Given the description of an element on the screen output the (x, y) to click on. 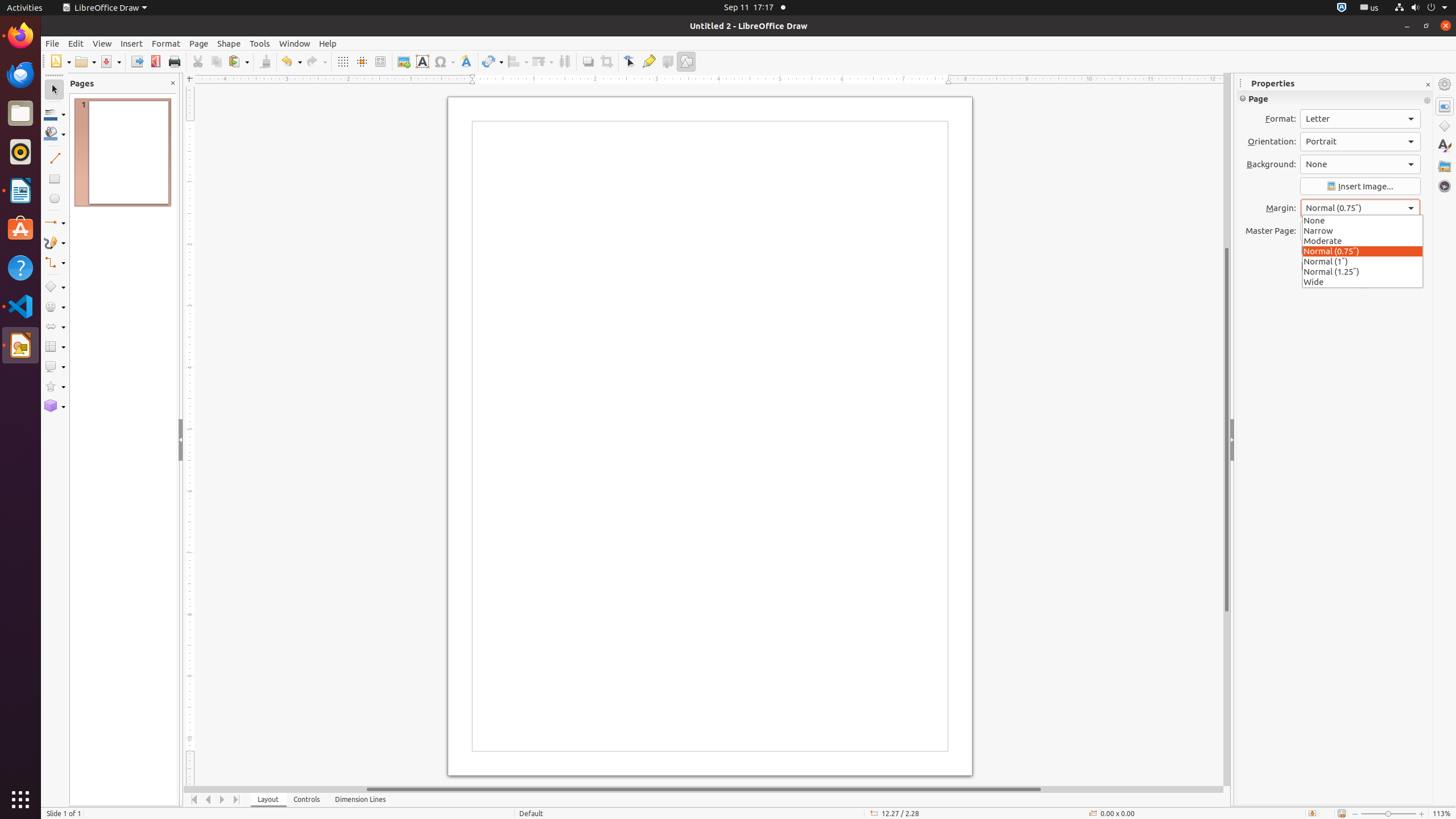
Copy Element type: push-button (216, 61)
Vertical Ruler Element type: ruler (190, 436)
Fontwork Style Element type: toggle-button (465, 61)
Tools Element type: menu (259, 43)
Move Left Element type: push-button (208, 799)
